Given the description of an element on the screen output the (x, y) to click on. 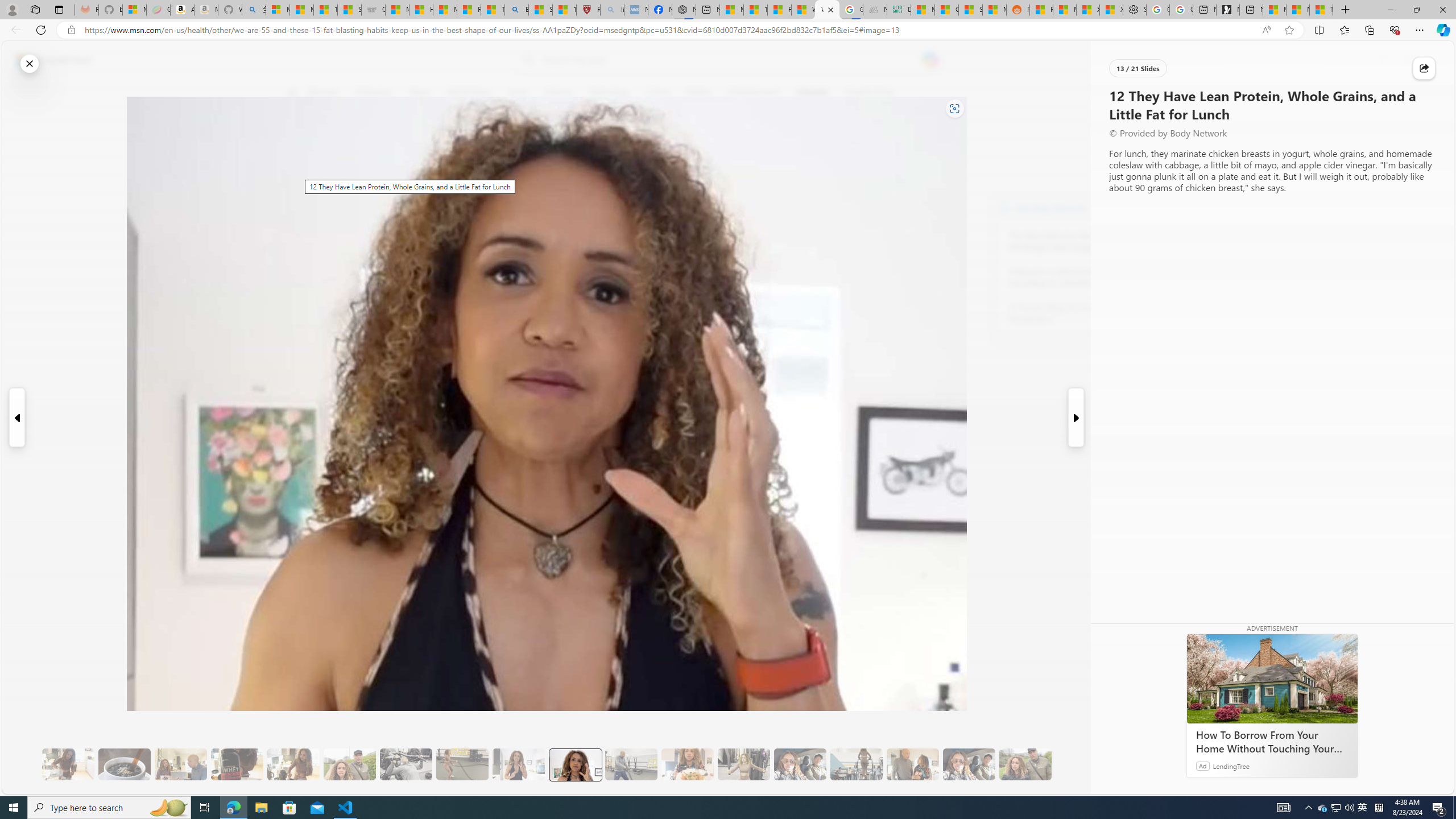
Next Slide (1076, 417)
Politics (698, 92)
R******* | Trusted Community Engagement and Contributions (1041, 9)
Open navigation menu (292, 92)
5 She Eats Less Than Her Husband (180, 764)
Enter your search term (730, 59)
